Given the description of an element on the screen output the (x, y) to click on. 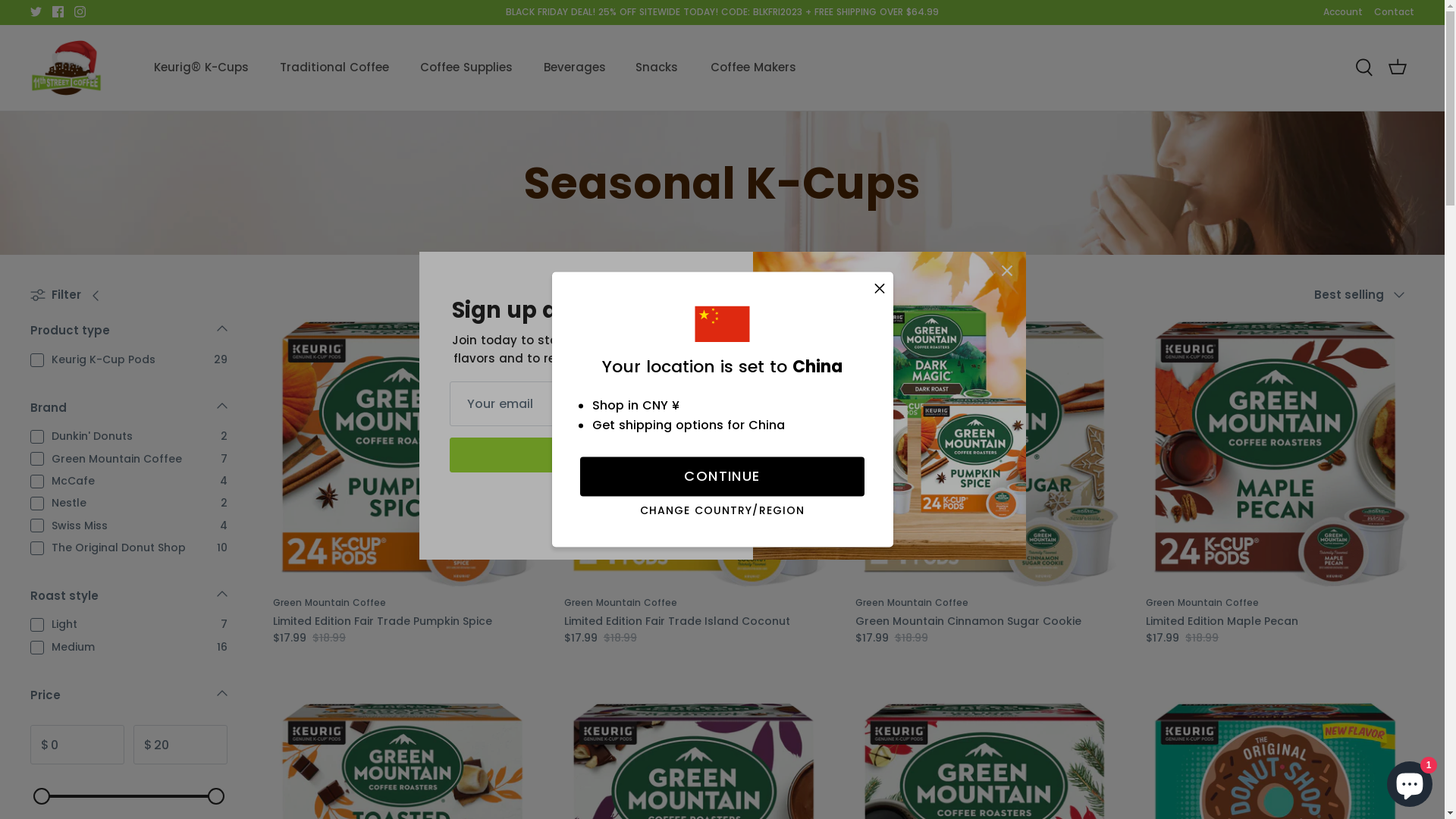
Roast style
Down Element type: text (128, 600)
Snacks Element type: text (635, 67)
Coffee Supplies Element type: text (443, 67)
Account Element type: text (1342, 12)
CHANGE COUNTRY/REGION Element type: text (722, 511)
Best selling Element type: text (1364, 294)
Facebook Element type: text (57, 11)
SUBSCRIBE Element type: text (584, 454)
Contact Element type: text (1394, 12)
Filter Element type: text (69, 294)
Twitter Element type: text (35, 11)
Coffee Makers Element type: text (730, 67)
CONTINUE Element type: text (722, 476)
Price
Down Element type: text (128, 699)
Product type
Down Element type: text (128, 335)
Beverages Element type: text (552, 67)
Traditional Coffee Element type: text (311, 67)
Instagram Element type: text (79, 11)
Shopify online store chat Element type: hover (1409, 780)
11th Street Coffee Element type: hover (66, 67)
Brand
Down Element type: text (128, 412)
